Given the description of an element on the screen output the (x, y) to click on. 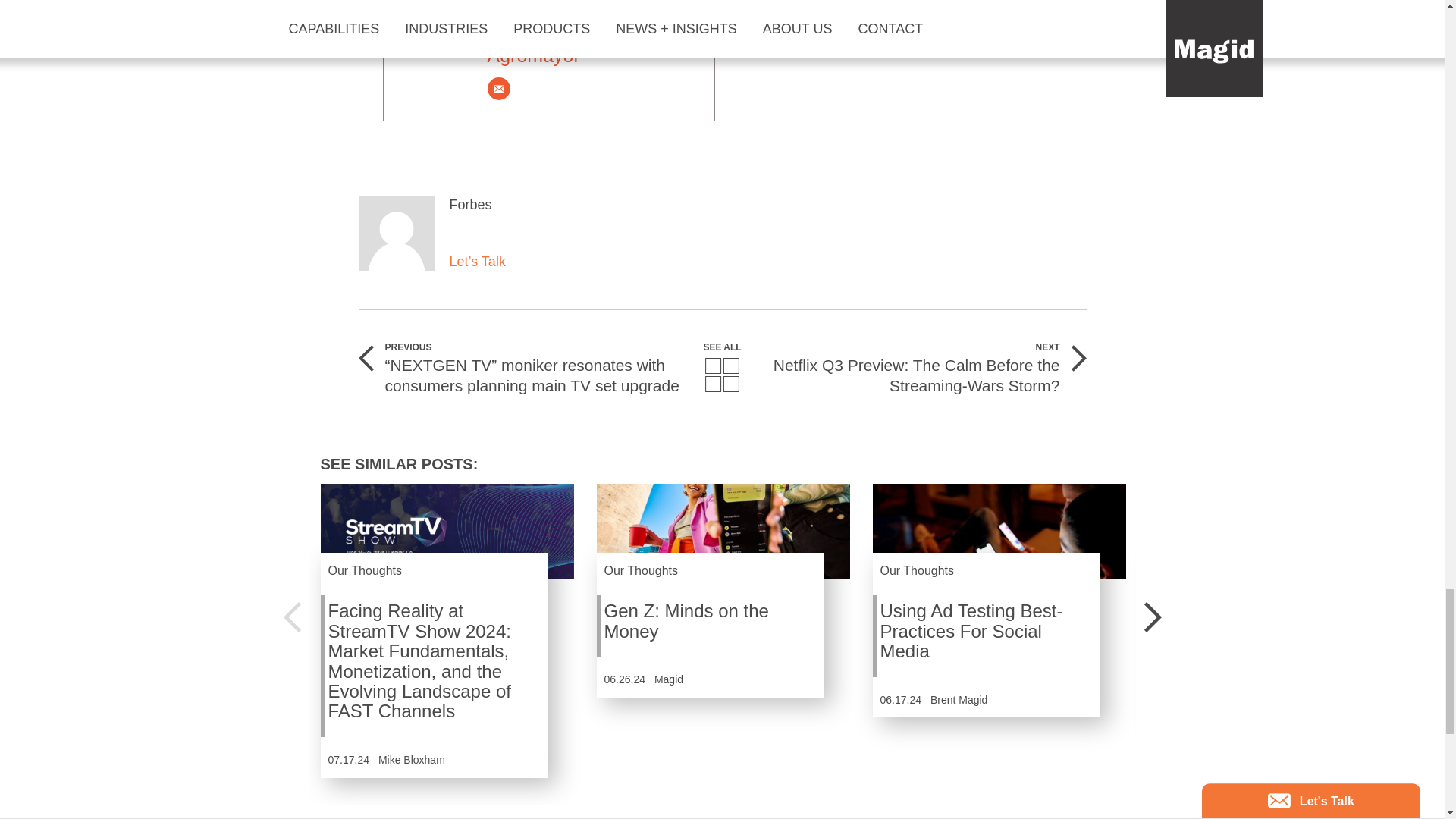
Vicky Agromayor (537, 34)
